Given the description of an element on the screen output the (x, y) to click on. 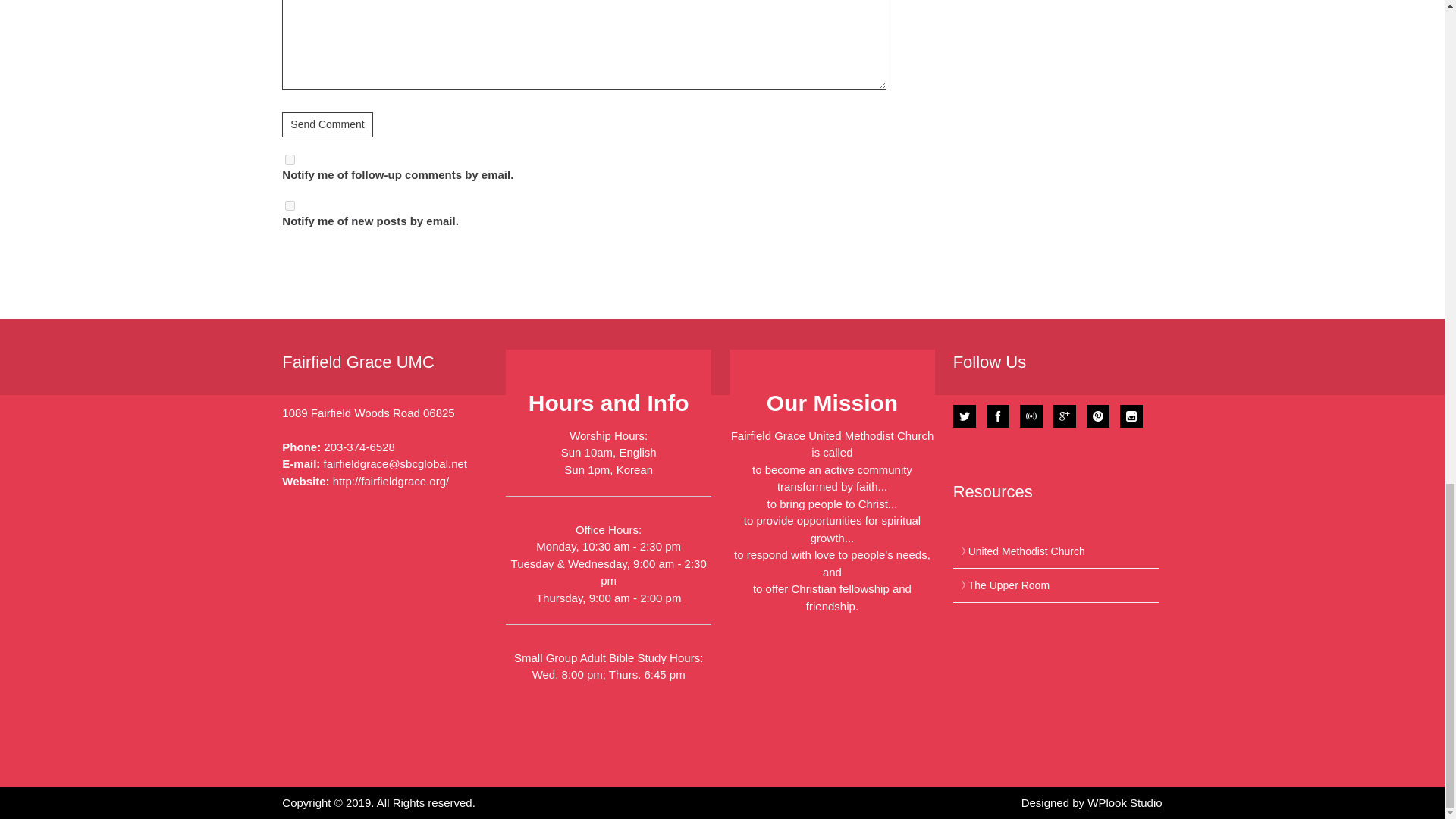
subscribe (290, 205)
WPlook (1124, 802)
Send Comment (327, 124)
subscribe (290, 159)
